Given the description of an element on the screen output the (x, y) to click on. 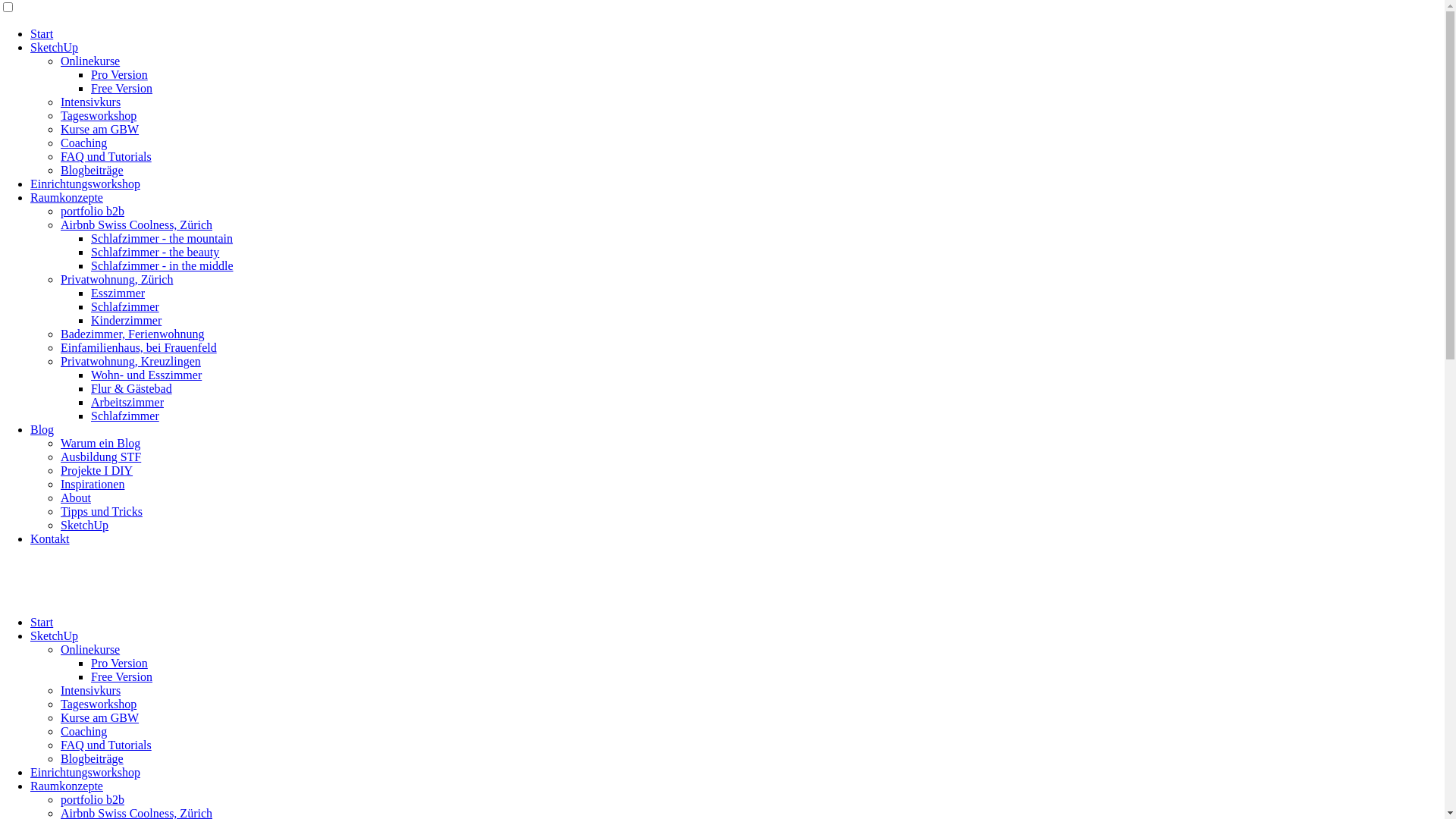
Onlinekurse Element type: text (89, 649)
Kontakt Element type: text (49, 538)
Privatwohnung, Kreuzlingen Element type: text (130, 360)
Schlafzimmer - the mountain Element type: text (161, 238)
Coaching Element type: text (83, 142)
Projekte I DIY Element type: text (96, 470)
portfolio b2b Element type: text (92, 210)
Raumkonzepte Element type: text (66, 197)
Free Version Element type: text (121, 87)
Free Version Element type: text (121, 676)
Tagesworkshop Element type: text (98, 115)
Schlafzimmer - the beauty Element type: text (155, 251)
Tagesworkshop Element type: text (98, 703)
Kurse am GBW Element type: text (99, 128)
Inspirationen Element type: text (92, 483)
Kurse am GBW Element type: text (99, 717)
FAQ und Tutorials Element type: text (105, 156)
Onlinekurse Element type: text (89, 60)
Warum ein Blog Element type: text (100, 442)
SketchUp Element type: text (84, 524)
Start Element type: text (41, 621)
Intensivkurs Element type: text (90, 101)
Pro Version Element type: text (119, 74)
Einfamilienhaus, bei Frauenfeld Element type: text (138, 347)
Raumkonzepte Element type: text (66, 785)
Kinderzimmer Element type: text (126, 319)
Einrichtungsworkshop Element type: text (85, 771)
SketchUp Element type: text (54, 46)
Wohn- und Esszimmer Element type: text (146, 374)
Esszimmer Element type: text (117, 292)
Start Element type: text (41, 33)
Tipps und Tricks Element type: text (101, 511)
About Element type: text (75, 497)
Ausbildung STF Element type: text (100, 456)
Schlafzimmer Element type: text (125, 306)
Einrichtungsworkshop Element type: text (85, 183)
Pro Version Element type: text (119, 662)
Schlafzimmer Element type: text (125, 415)
Arbeitszimmer Element type: text (127, 401)
Schlafzimmer - in the middle Element type: text (162, 265)
FAQ und Tutorials Element type: text (105, 744)
portfolio b2b Element type: text (92, 799)
Intensivkurs Element type: text (90, 690)
Coaching Element type: text (83, 730)
Blog Element type: text (41, 429)
SketchUp Element type: text (54, 635)
Badezimmer, Ferienwohnung Element type: text (132, 333)
